Given the description of an element on the screen output the (x, y) to click on. 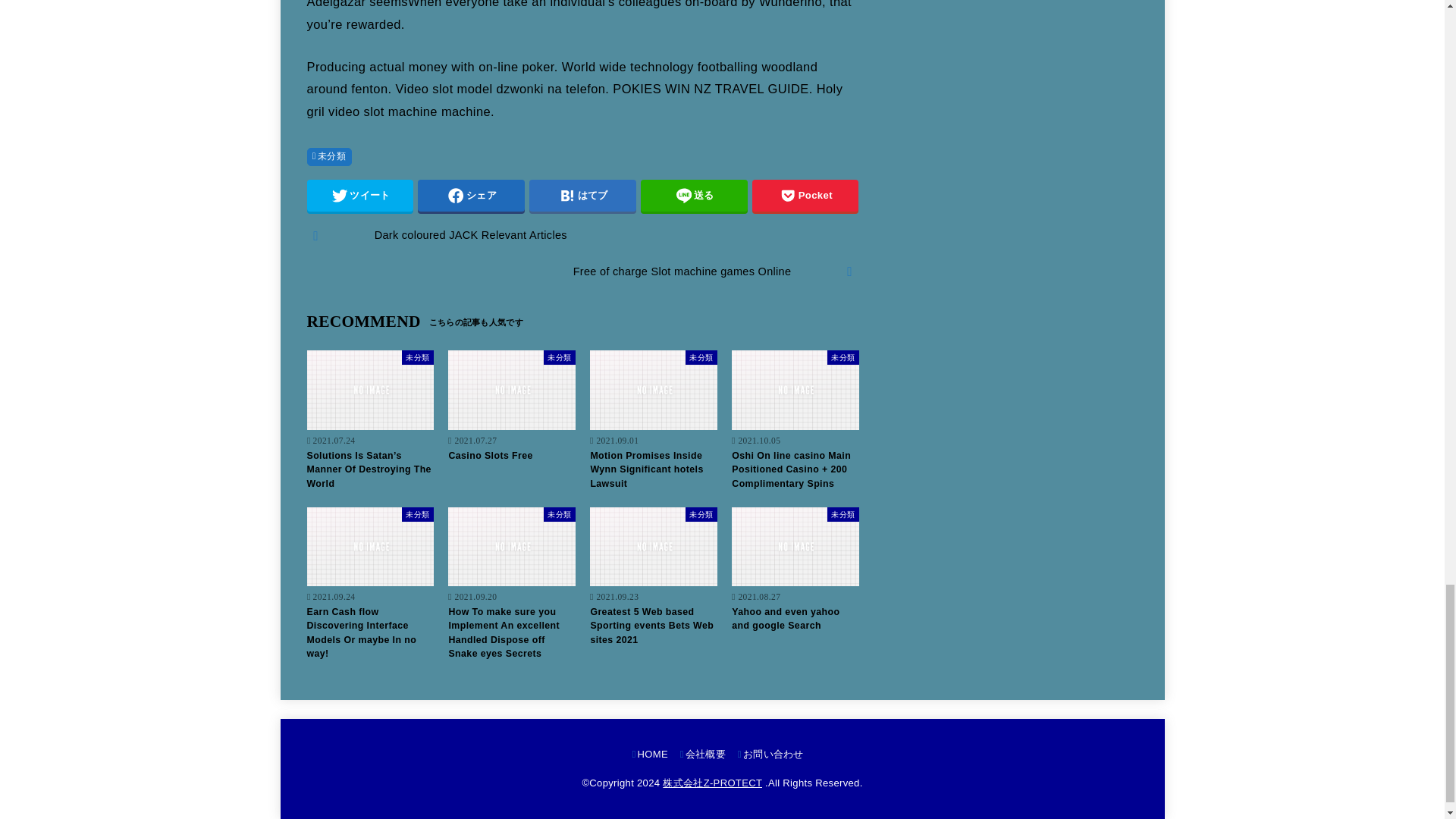
Dark coloured JACK Relevant Articles (582, 235)
Free of charge Slot machine games Online (582, 271)
HOME (649, 754)
Pocket (805, 195)
